Given the description of an element on the screen output the (x, y) to click on. 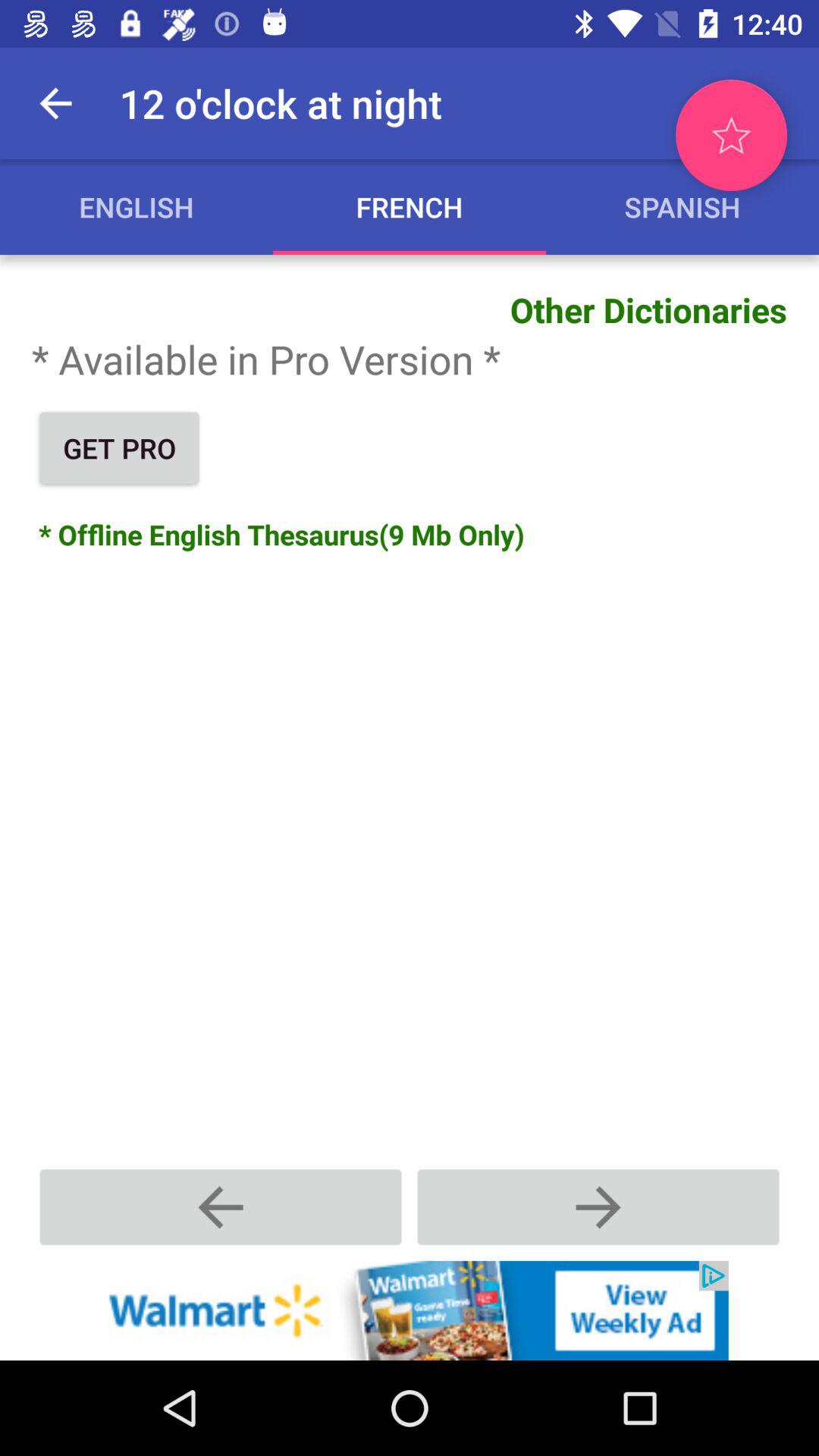
add to favorite (731, 135)
